Given the description of an element on the screen output the (x, y) to click on. 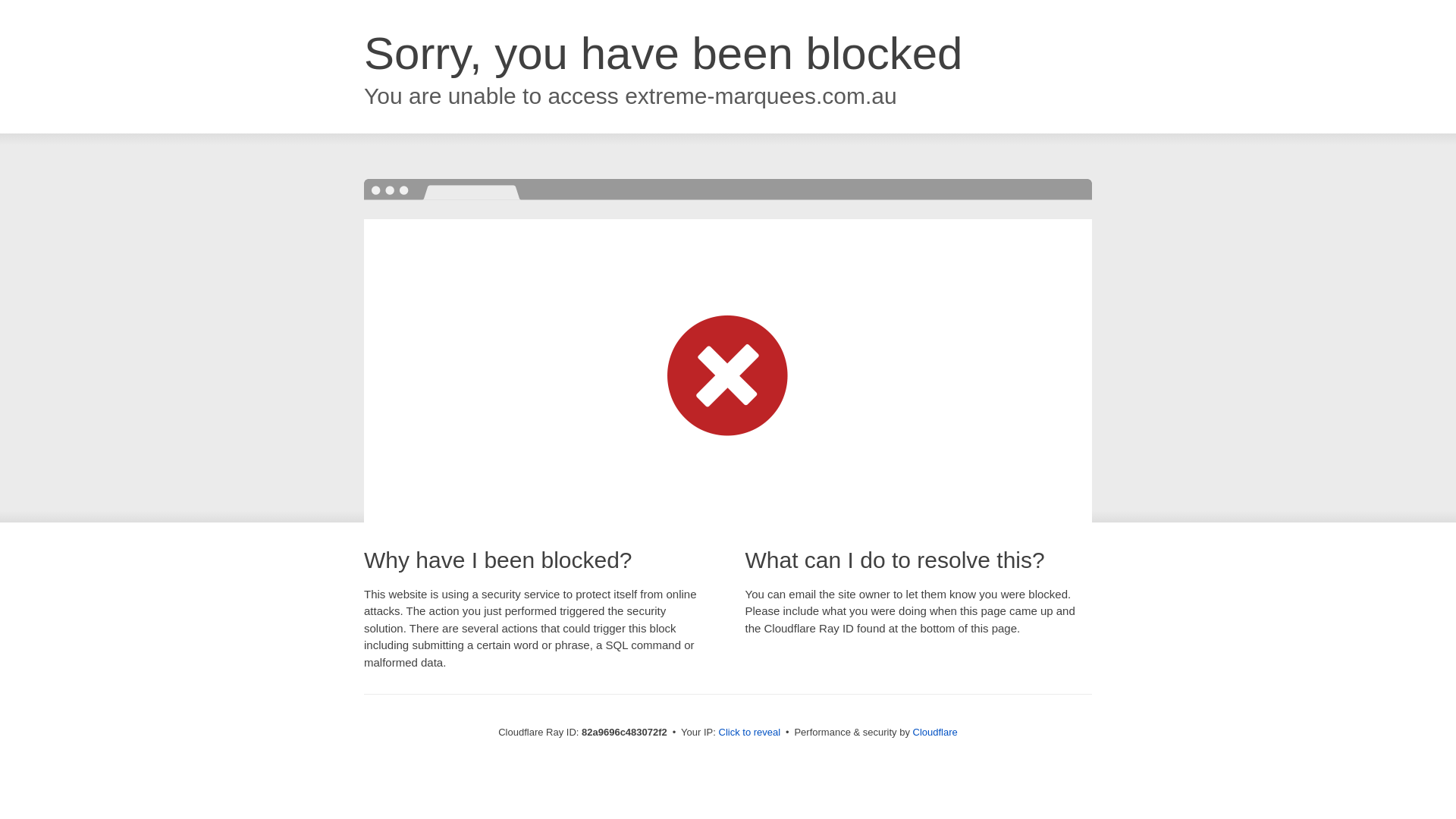
Cloudflare Element type: text (935, 731)
Click to reveal Element type: text (749, 732)
